Given the description of an element on the screen output the (x, y) to click on. 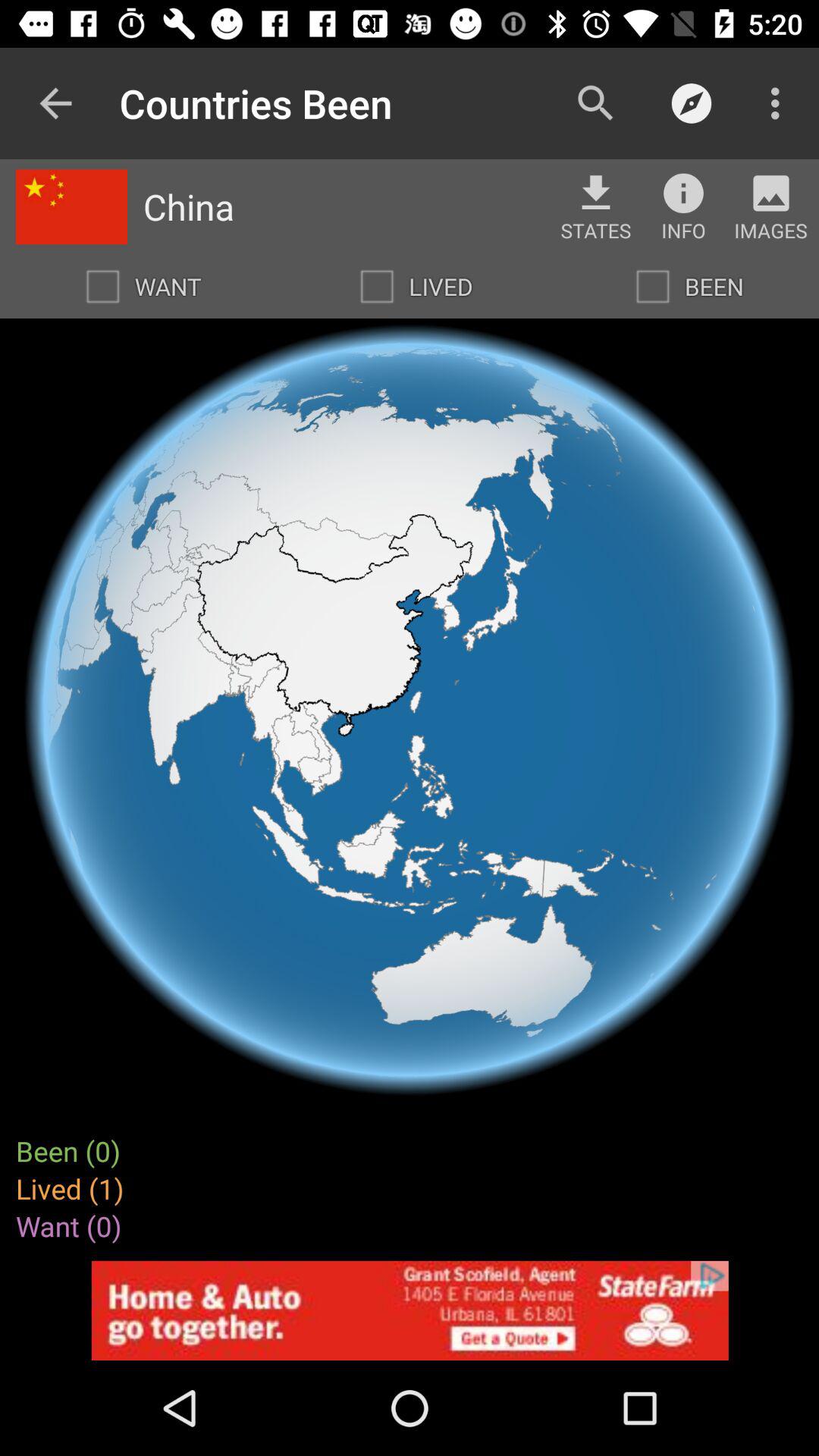
select want option (102, 286)
